Given the description of an element on the screen output the (x, y) to click on. 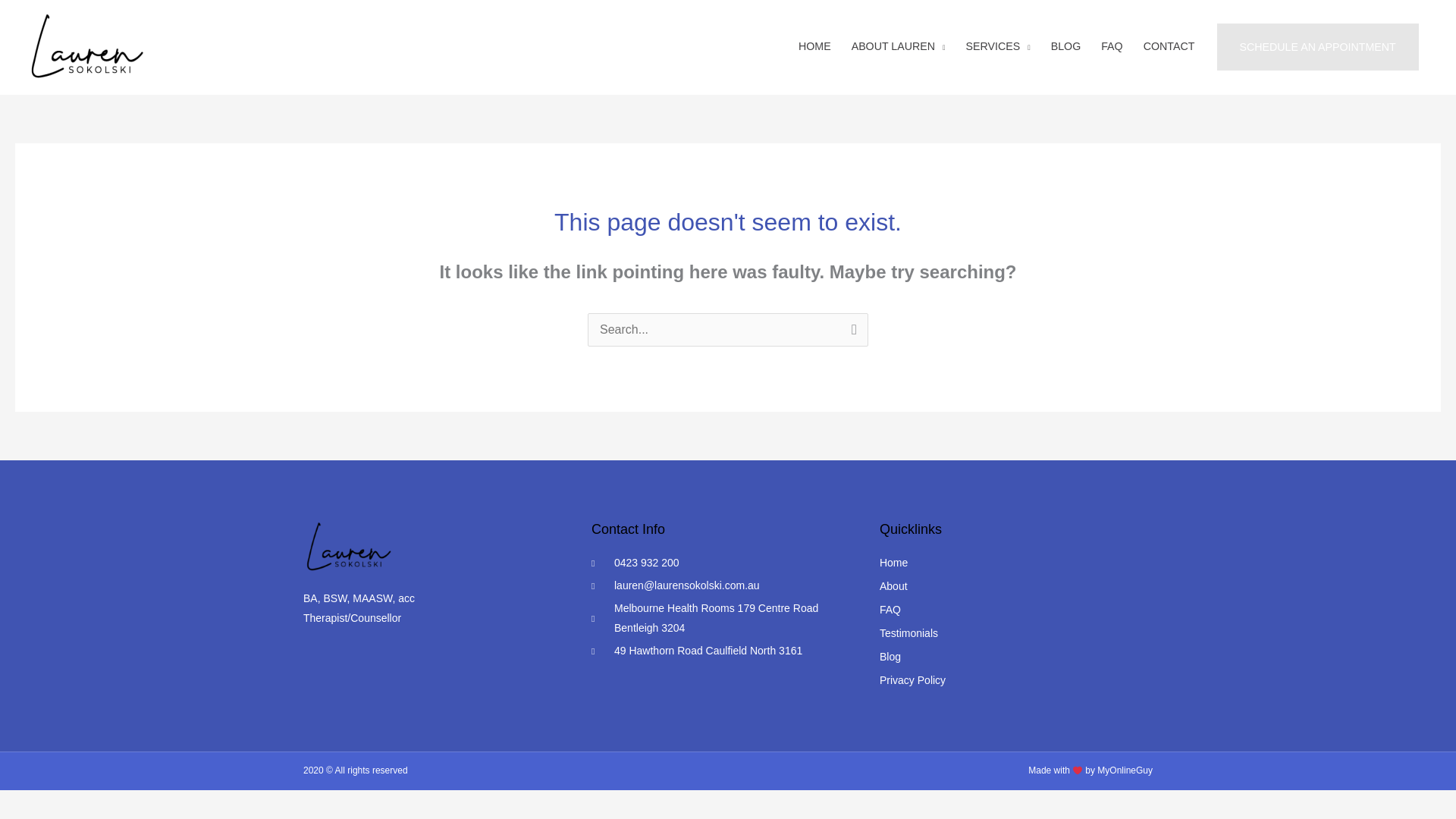
Blog (1016, 657)
Privacy Policy (1016, 680)
49 Hawthorn Road Caulfield North 3161 (722, 650)
CONTACT (1170, 45)
0423 932 200 (722, 563)
HOME (816, 45)
About (1016, 587)
Melbourne Health Rooms 179 Centre Road Bentleigh 3204 (722, 618)
SERVICES (999, 45)
BLOG (1067, 45)
FAQ (1016, 609)
SCHEDULE AN APPOINTMENT (1317, 45)
Home (1016, 563)
Made with by MyOnlineGuy (1090, 769)
Testimonials (1016, 633)
